Given the description of an element on the screen output the (x, y) to click on. 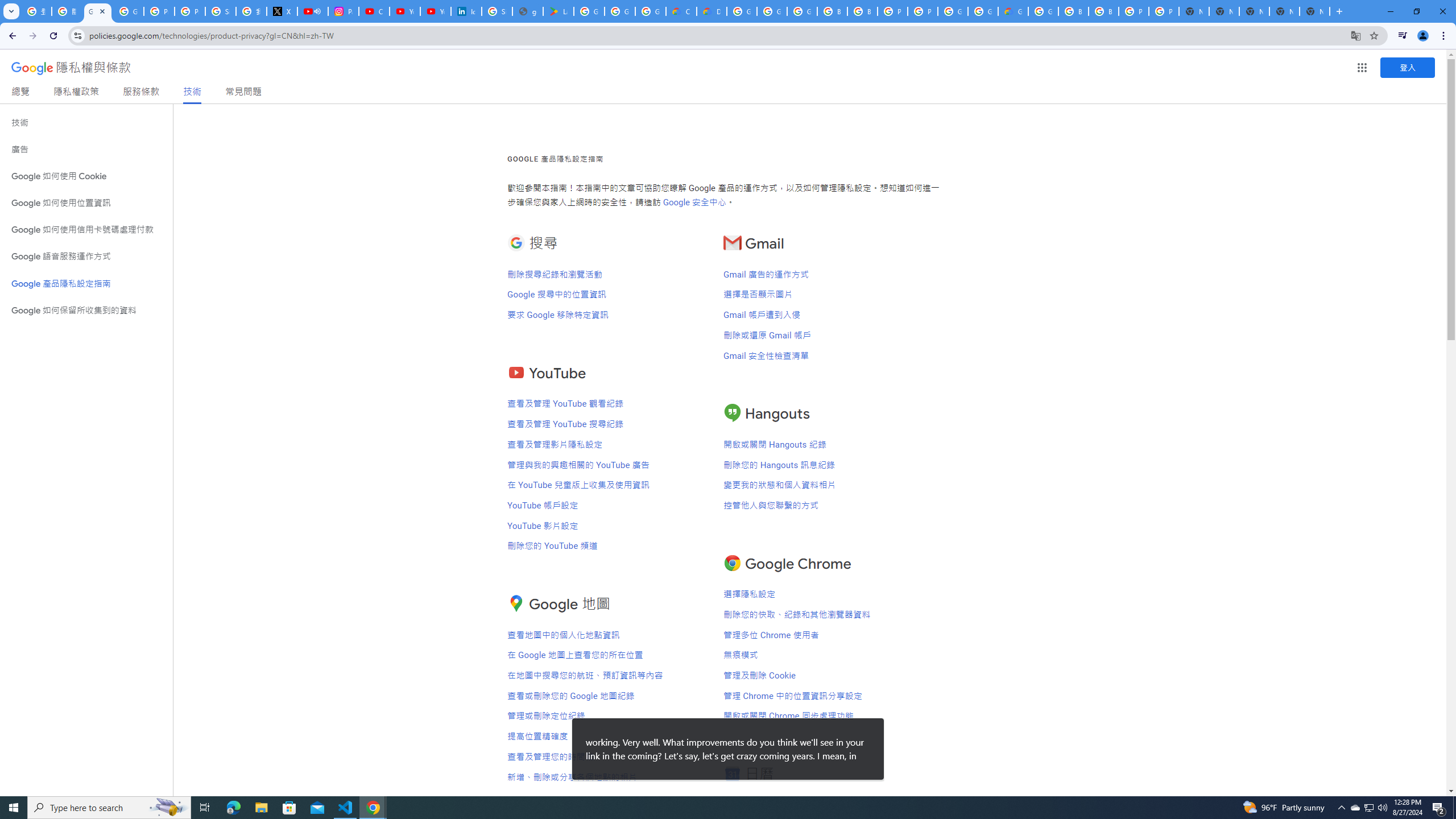
Google Cloud Estimate Summary (1012, 11)
Google Workspace - Specific Terms (619, 11)
